Given the description of an element on the screen output the (x, y) to click on. 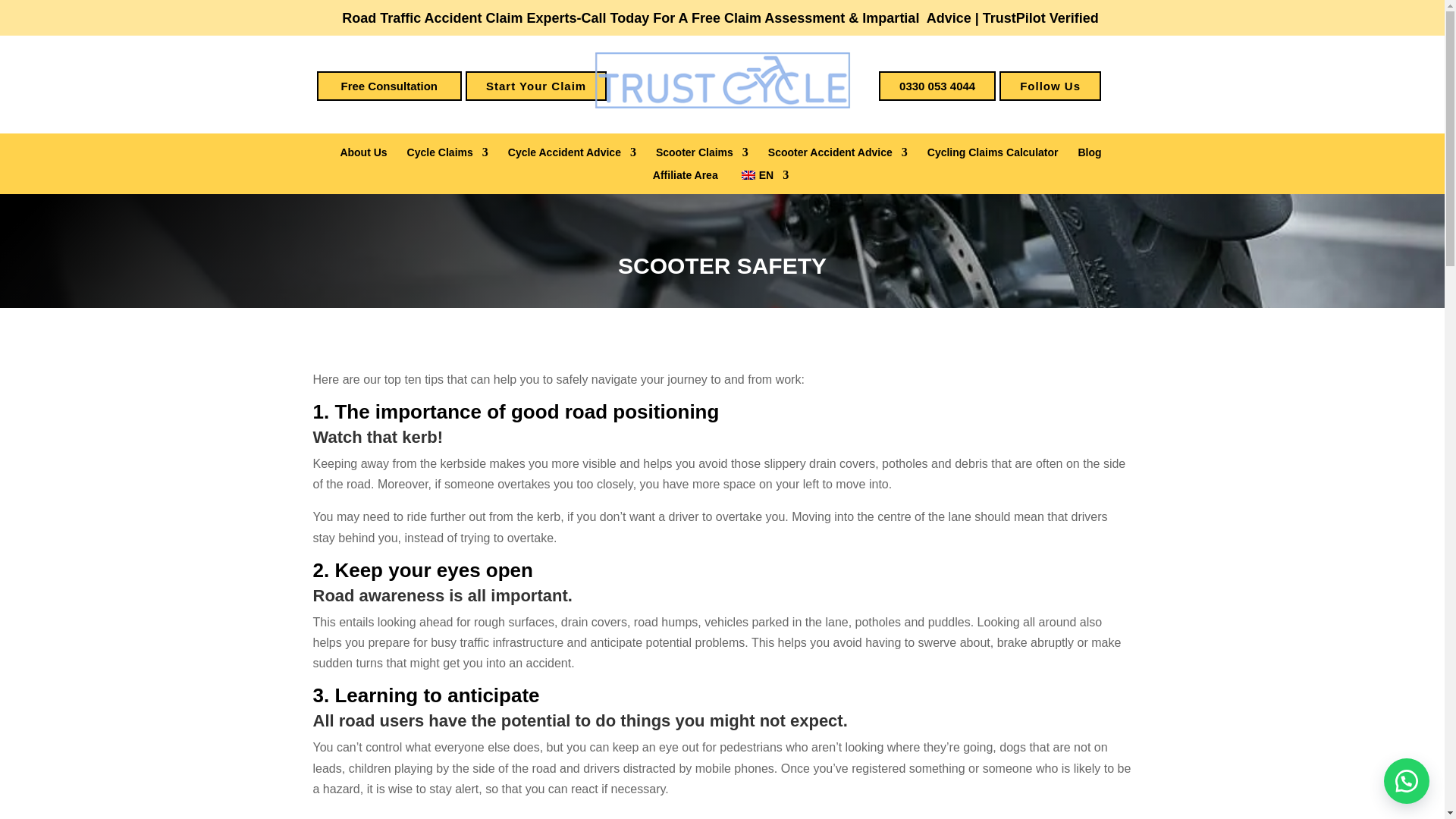
Affiliate Area (684, 177)
Scooter Accident Advice (837, 155)
Cycle Claims (447, 155)
Cycling Claims Calculator (992, 155)
Start Your Claim (536, 85)
Blog (1088, 155)
Follow Us (1049, 85)
Free Consultation (390, 85)
Scooter Claims (702, 155)
Cycle Accident Advice (572, 155)
